Given the description of an element on the screen output the (x, y) to click on. 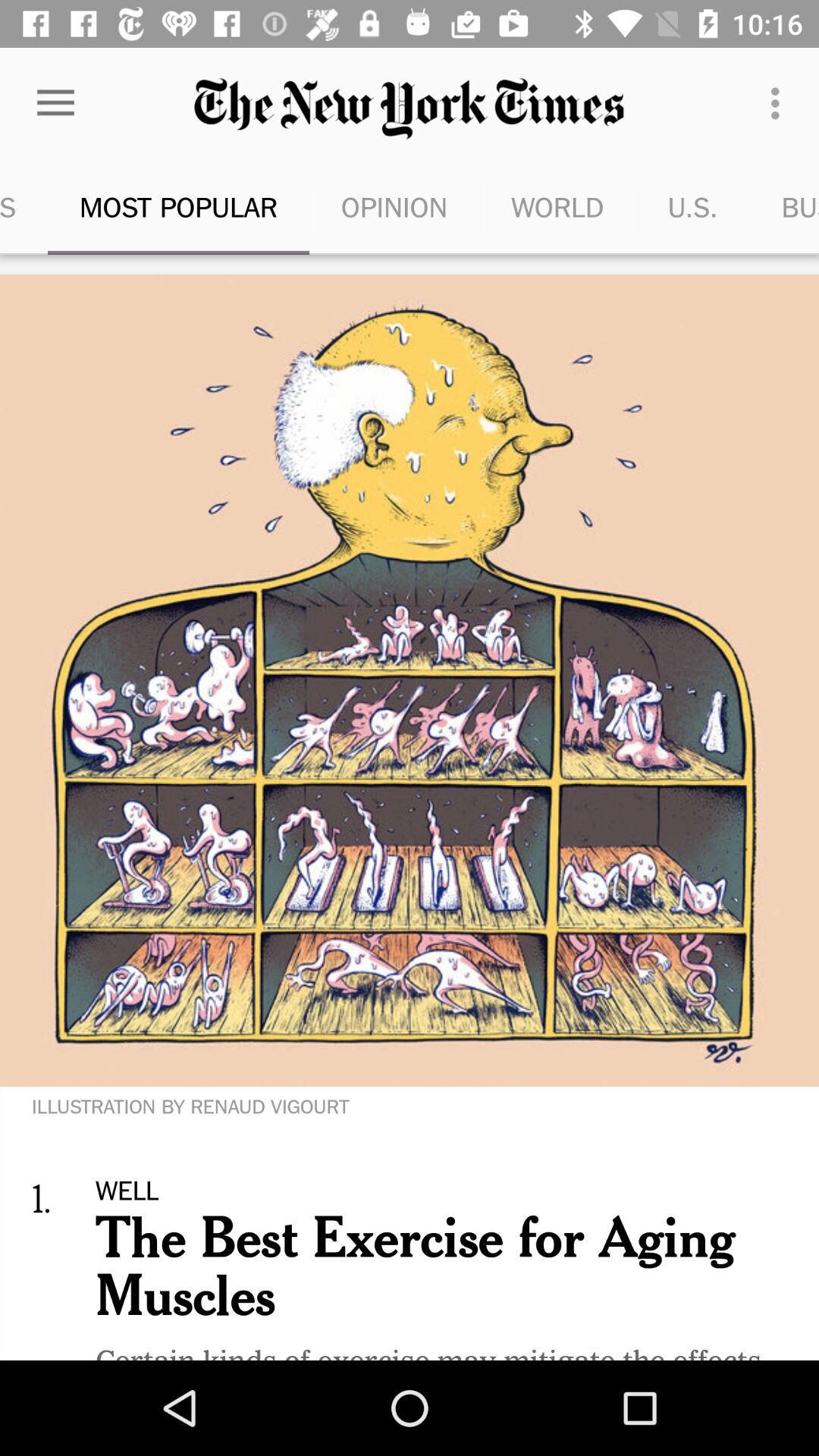
turn off the icon next to most popular (23, 206)
